Given the description of an element on the screen output the (x, y) to click on. 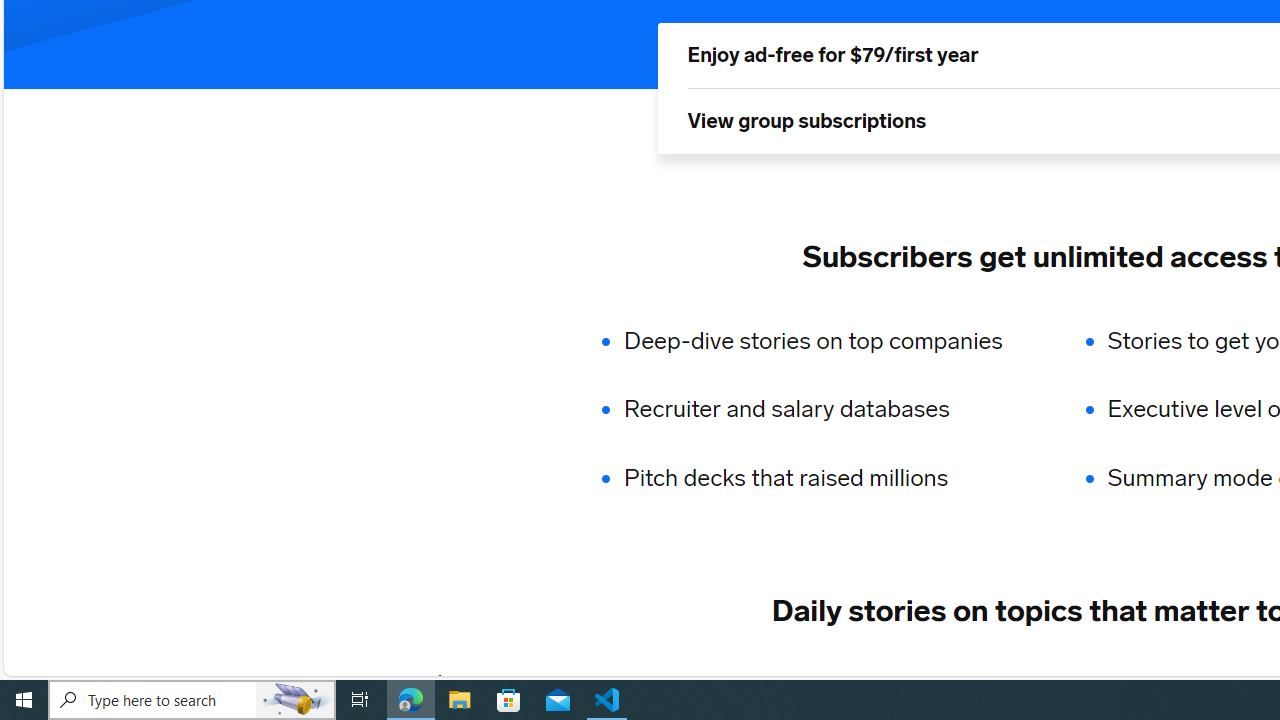
RETAIL (744, 681)
ADVERTISING (615, 681)
Recruiter and salary databases (825, 409)
TECH (492, 681)
FINANCE (853, 681)
PERSONAL FINANCE (1016, 681)
Deep-dive stories on top companies (825, 340)
HEALTHCARE (1195, 681)
Pitch decks that raised millions (825, 478)
